Given the description of an element on the screen output the (x, y) to click on. 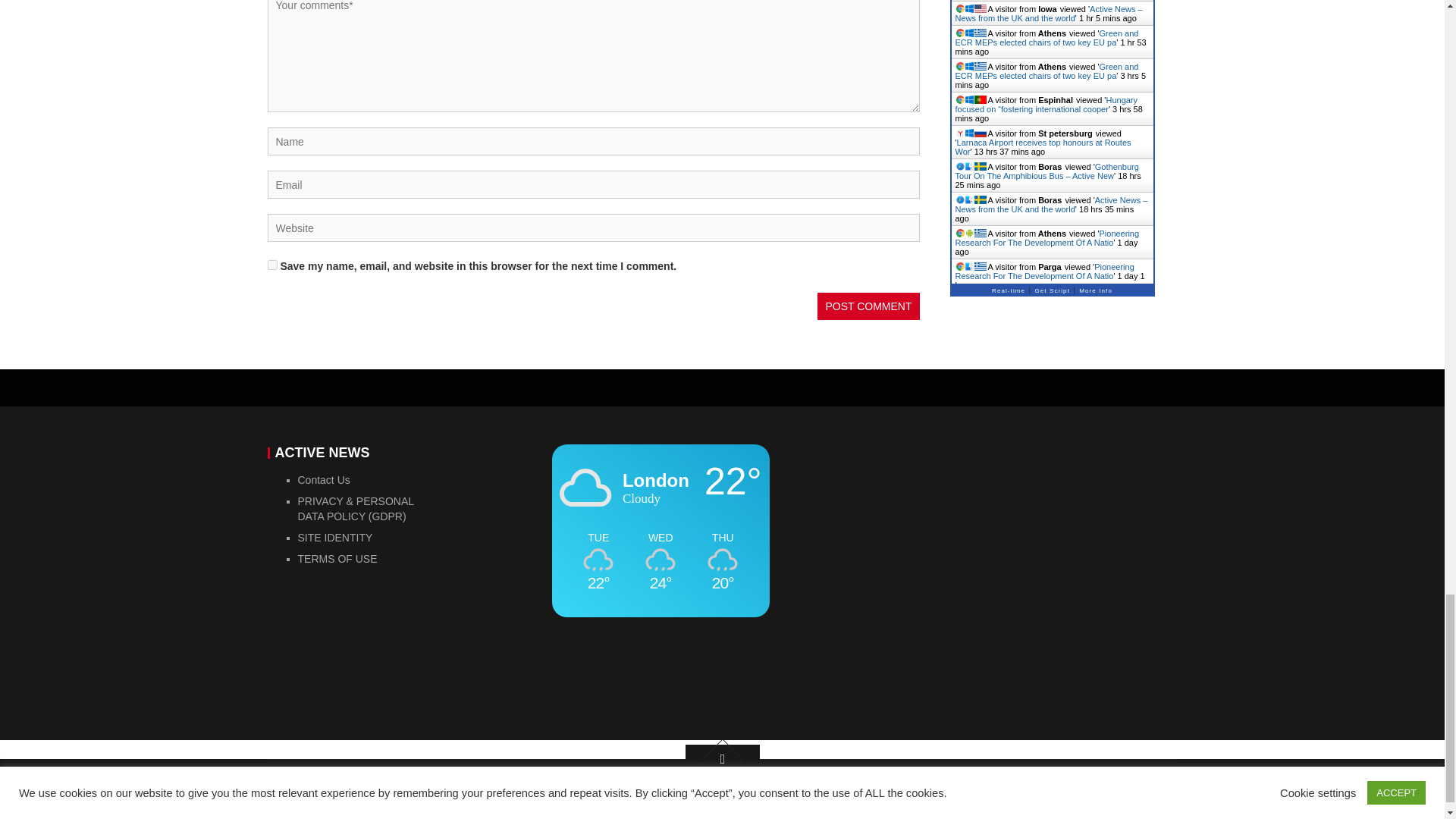
Chrome (959, 8)
Windows (967, 8)
Post Comment (867, 306)
yes (271, 265)
